Given the description of an element on the screen output the (x, y) to click on. 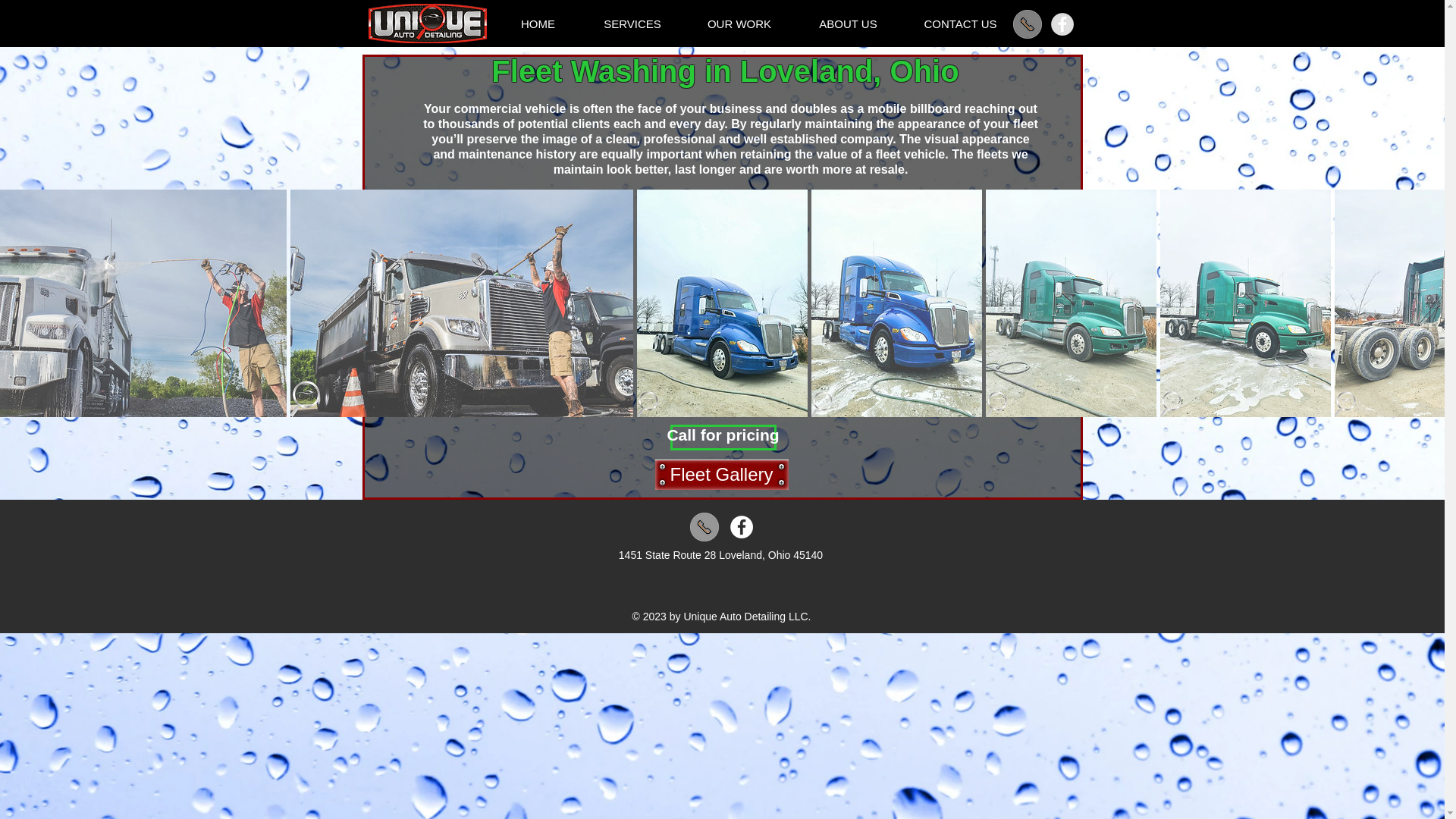
OUR WORK (738, 24)
SERVICES (632, 24)
Fleet Gallery (722, 474)
ABOUT US (848, 24)
HOME (538, 24)
CONTACT US (960, 24)
